Given the description of an element on the screen output the (x, y) to click on. 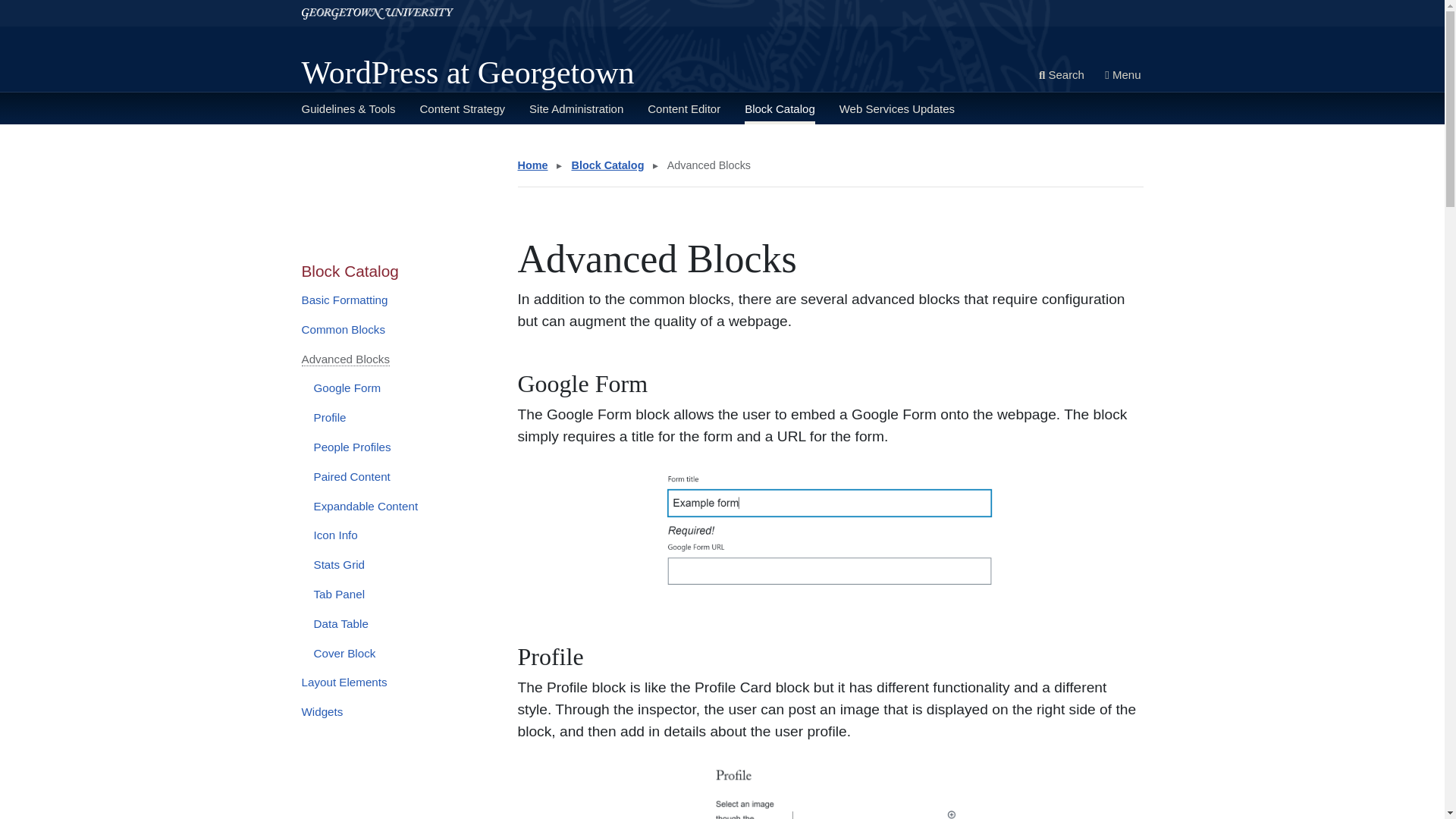
Toggle sub-navigation (490, 144)
Toggle sub-navigation (372, 144)
Menu (1122, 75)
Search (1061, 75)
Skip to main content (55, 6)
Skip to main site menu (61, 6)
WordPress at Georgetown (467, 72)
Site Administration (576, 107)
Content Strategy (462, 107)
Toggle sub-navigation (600, 144)
